Given the description of an element on the screen output the (x, y) to click on. 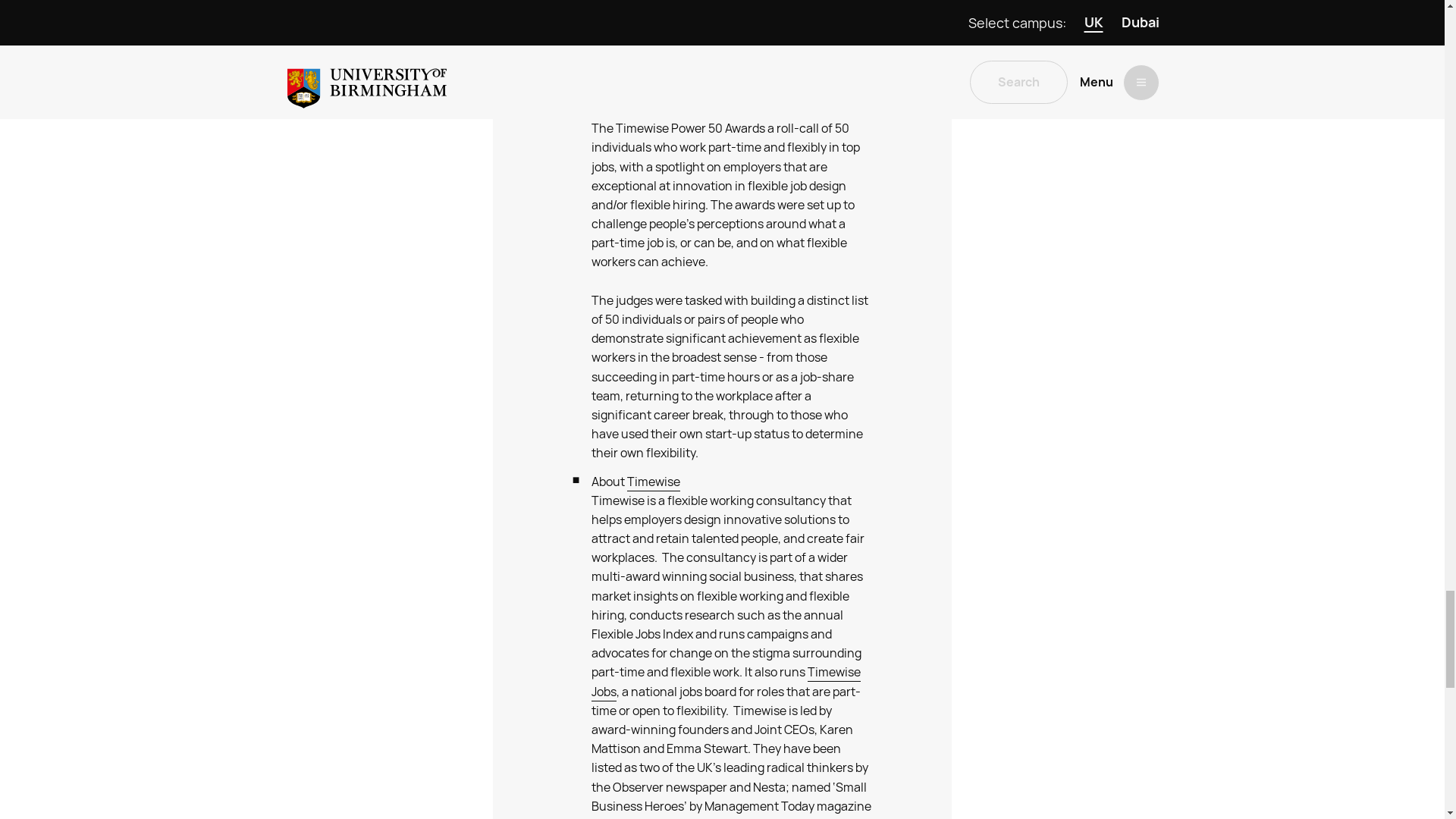
Timewise (653, 482)
Timewise Jobs (725, 682)
Timewise Power 50 Awards (724, 109)
